Given the description of an element on the screen output the (x, y) to click on. 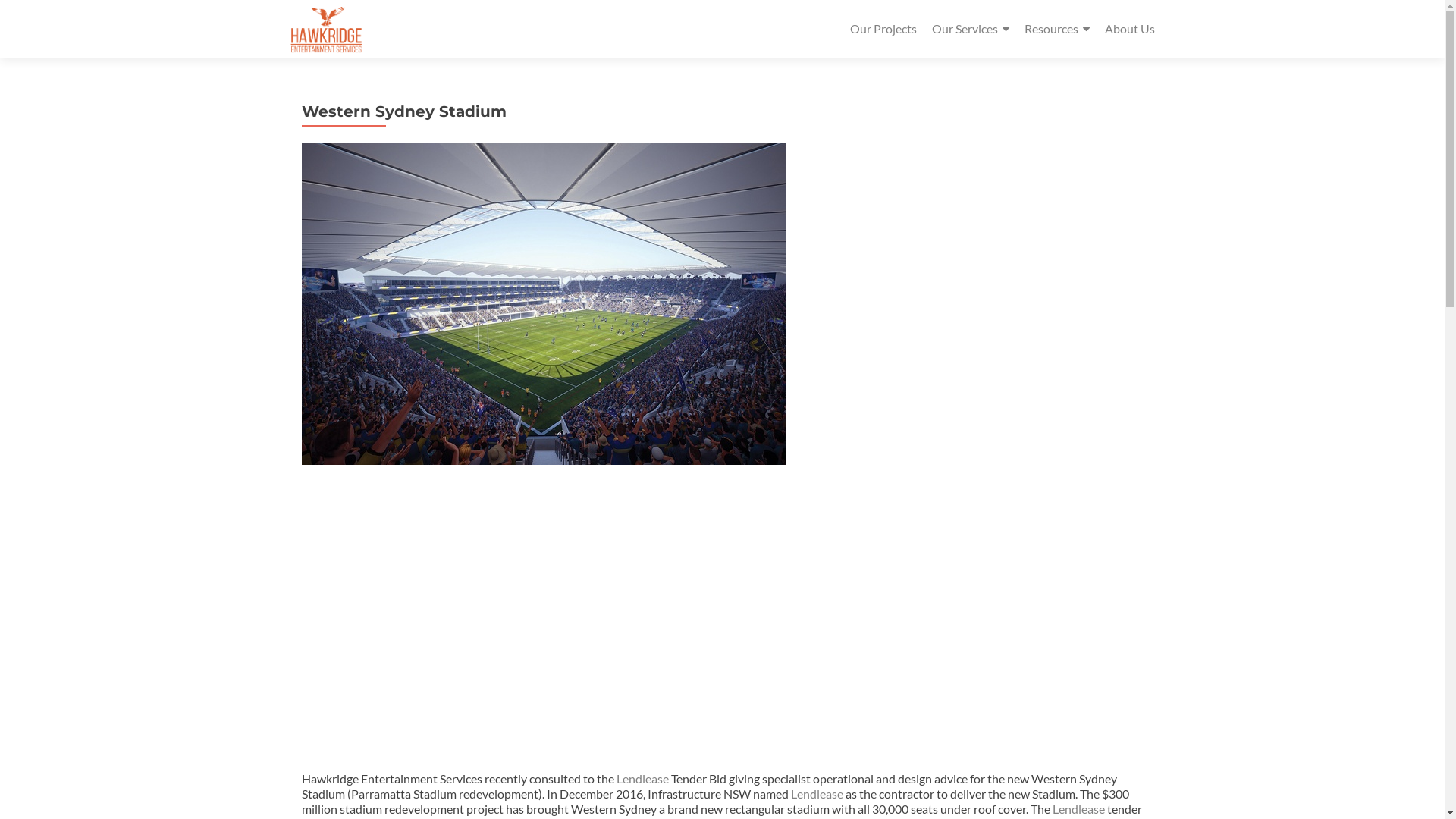
Our Services Element type: text (969, 28)
Inside Western Sydney Stadium Element type: hover (544, 612)
Lendlease Element type: text (641, 778)
Lendlease Element type: text (816, 793)
Resources Element type: text (1055, 28)
About Us Element type: text (1129, 28)
Lendlease Element type: text (1078, 808)
Our Projects Element type: text (882, 28)
